Given the description of an element on the screen output the (x, y) to click on. 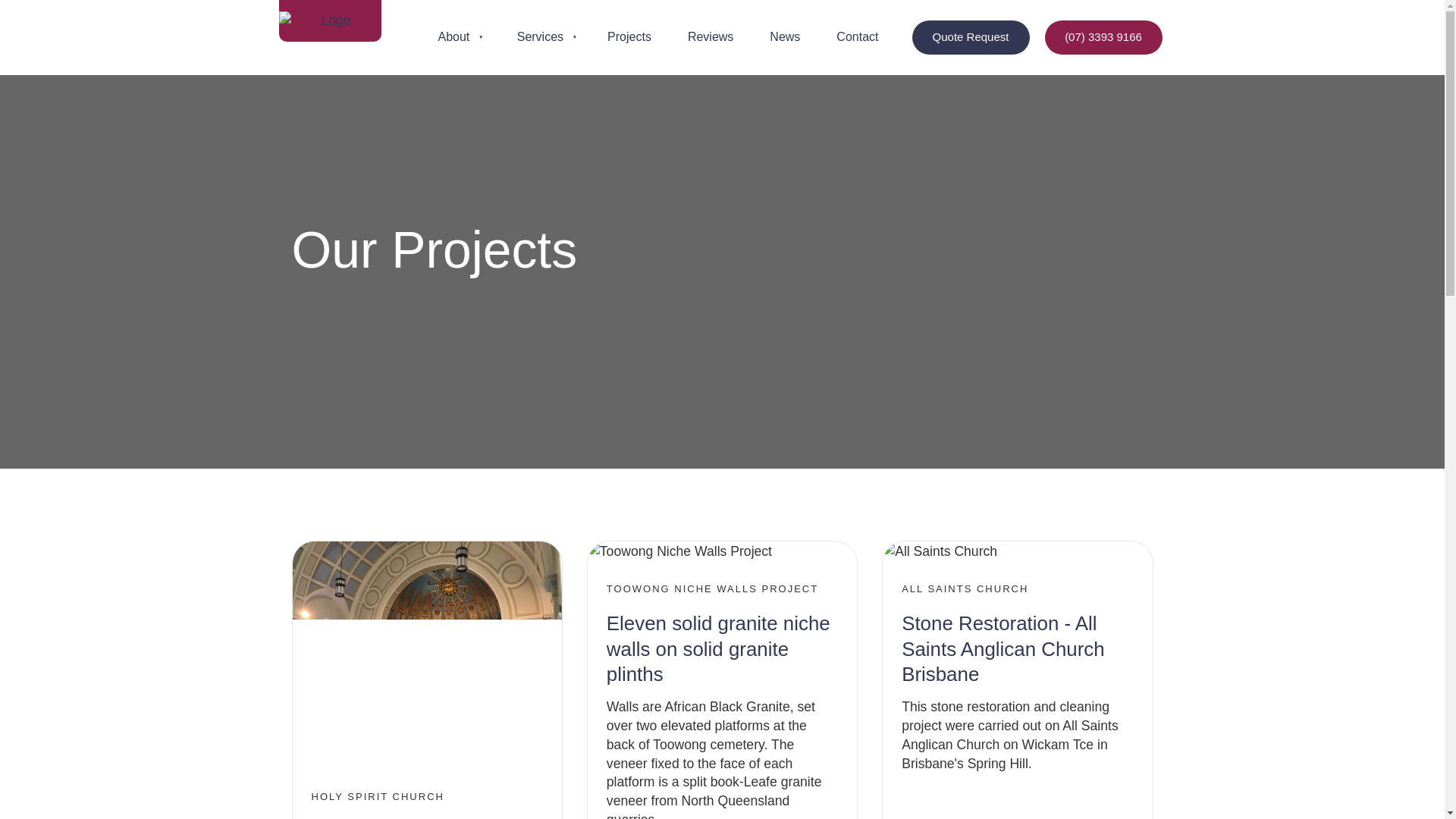
News (784, 36)
About (455, 36)
Projects (629, 36)
Quote Request (970, 37)
Services (542, 36)
Reviews (710, 36)
Contact (857, 36)
